Given the description of an element on the screen output the (x, y) to click on. 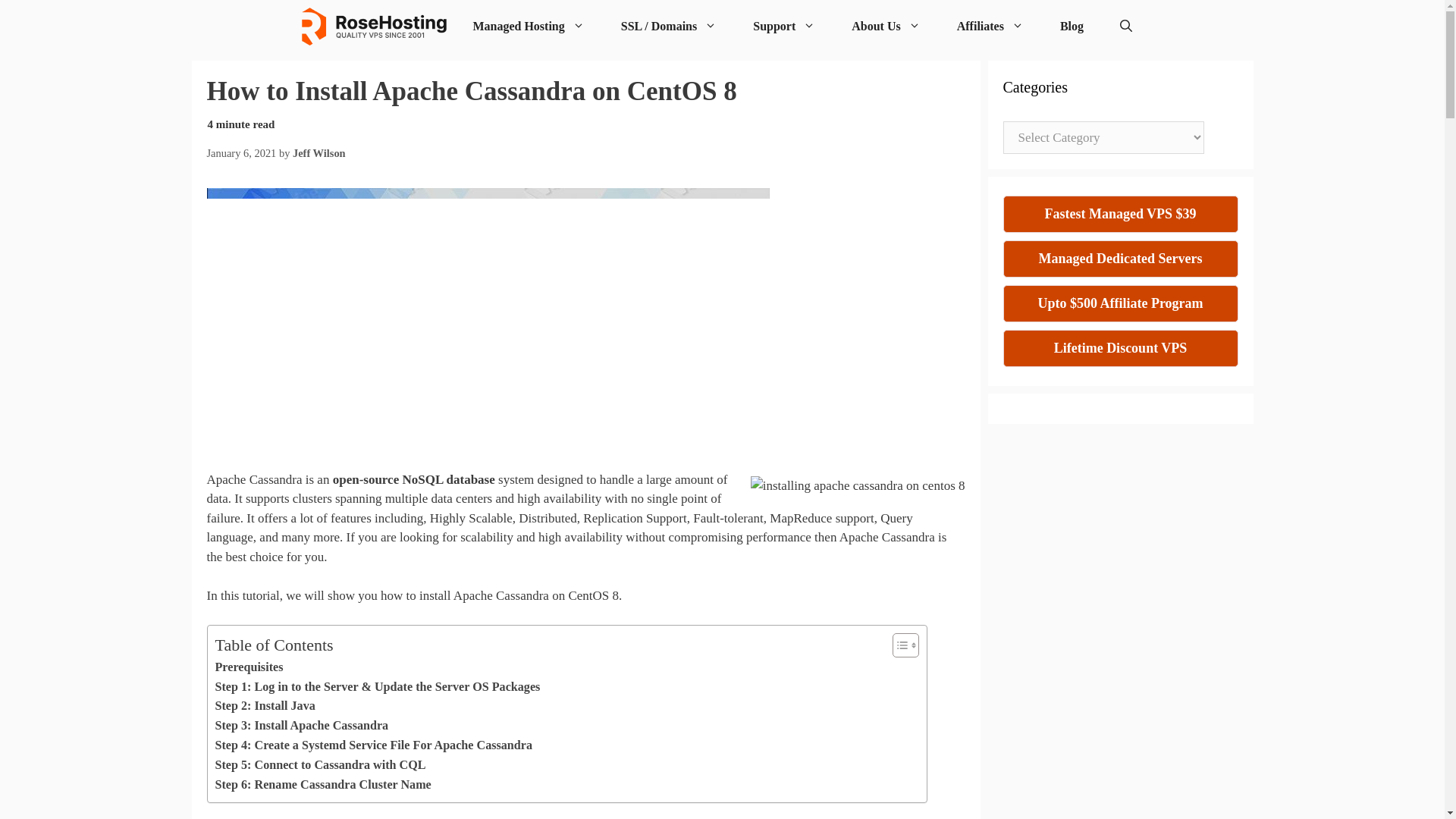
Step 5: Connect to Cassandra with CQL (320, 764)
About Us (884, 26)
Blog (1072, 26)
Step 2: Install Java (265, 705)
Affiliates (990, 26)
Managed Hosting (528, 26)
Step 3: Install Apache Cassandra (301, 725)
Support (783, 26)
Prerequisites (249, 667)
Prerequisites (249, 667)
